Given the description of an element on the screen output the (x, y) to click on. 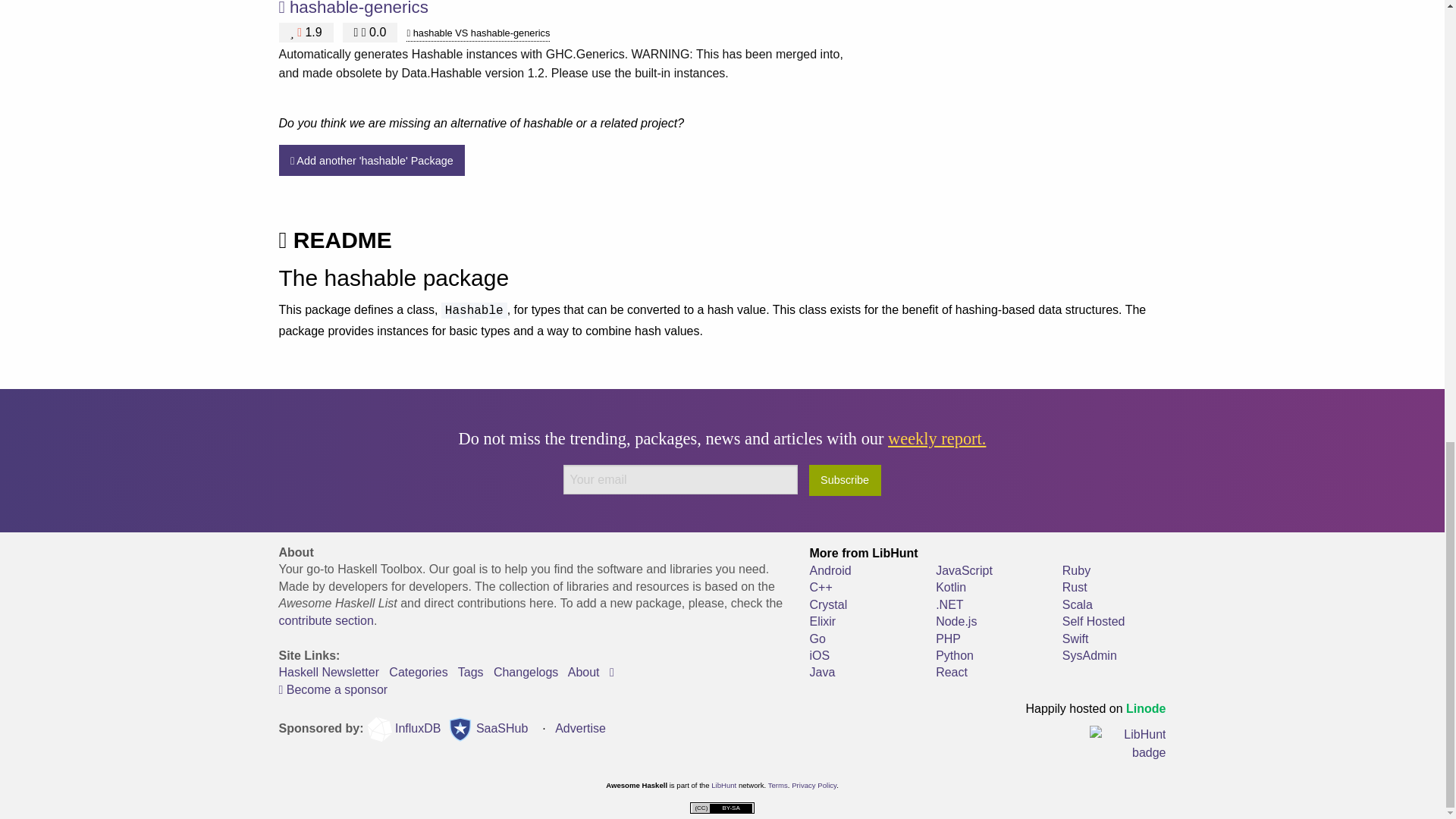
Add another 'hashable' Package (372, 160)
Subscribe (844, 480)
hashable-generics (358, 8)
hashable VS hashable-generics (478, 33)
